Given the description of an element on the screen output the (x, y) to click on. 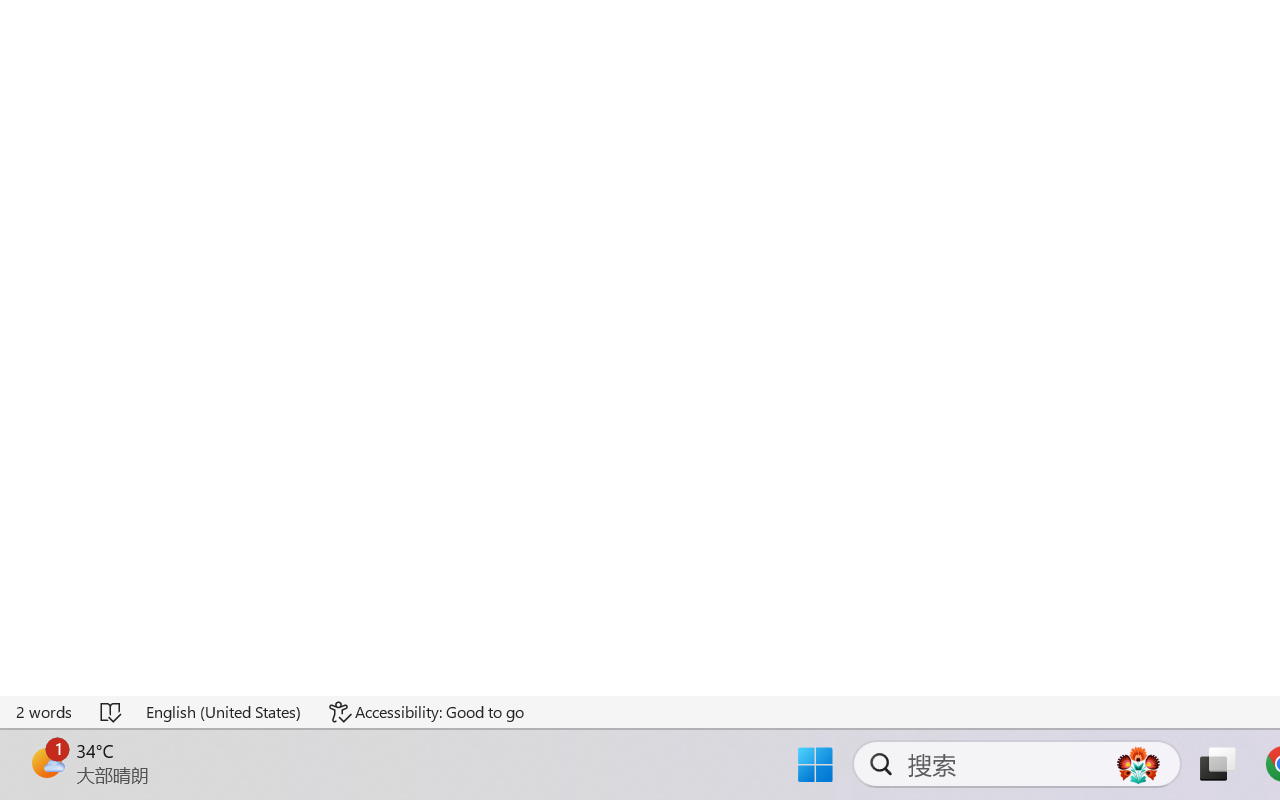
Spelling and Grammar Check No Errors (112, 712)
AutomationID: DynamicSearchBoxGleamImage (1138, 764)
Word Count 2 words (45, 712)
Language English (United States) (224, 712)
AutomationID: BadgeAnchorLargeTicker (46, 762)
Accessibility Checker Accessibility: Good to go (426, 712)
